Given the description of an element on the screen output the (x, y) to click on. 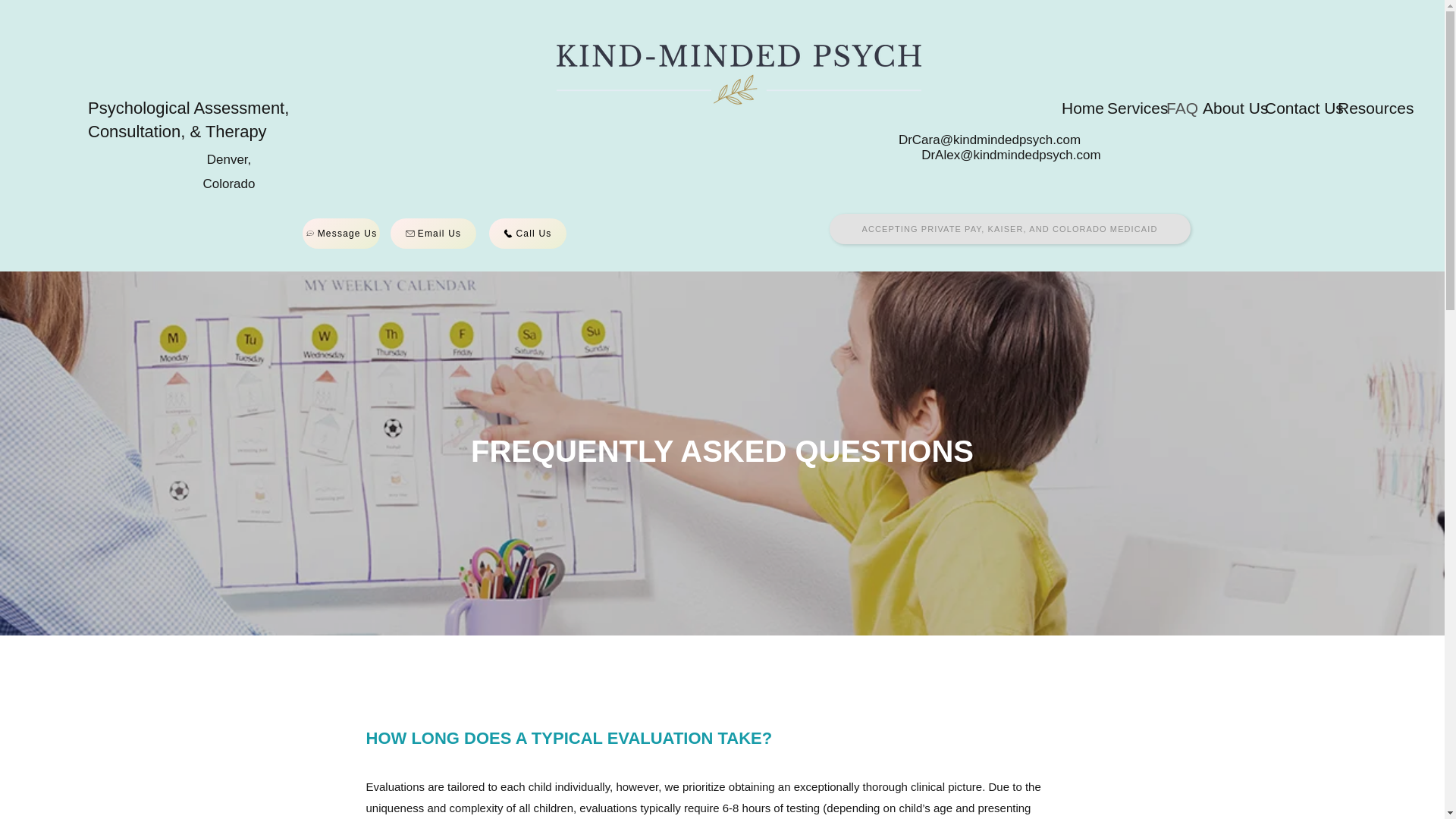
Email Us (433, 233)
Call Us (526, 233)
Contact Us (1293, 108)
About Us (1226, 108)
Home (1076, 108)
FAQ (1176, 108)
Message Us (339, 233)
Resources (1364, 108)
ACCEPTING PRIVATE PAY, KAISER, AND COLORADO MEDICAID (1010, 228)
